Given the description of an element on the screen output the (x, y) to click on. 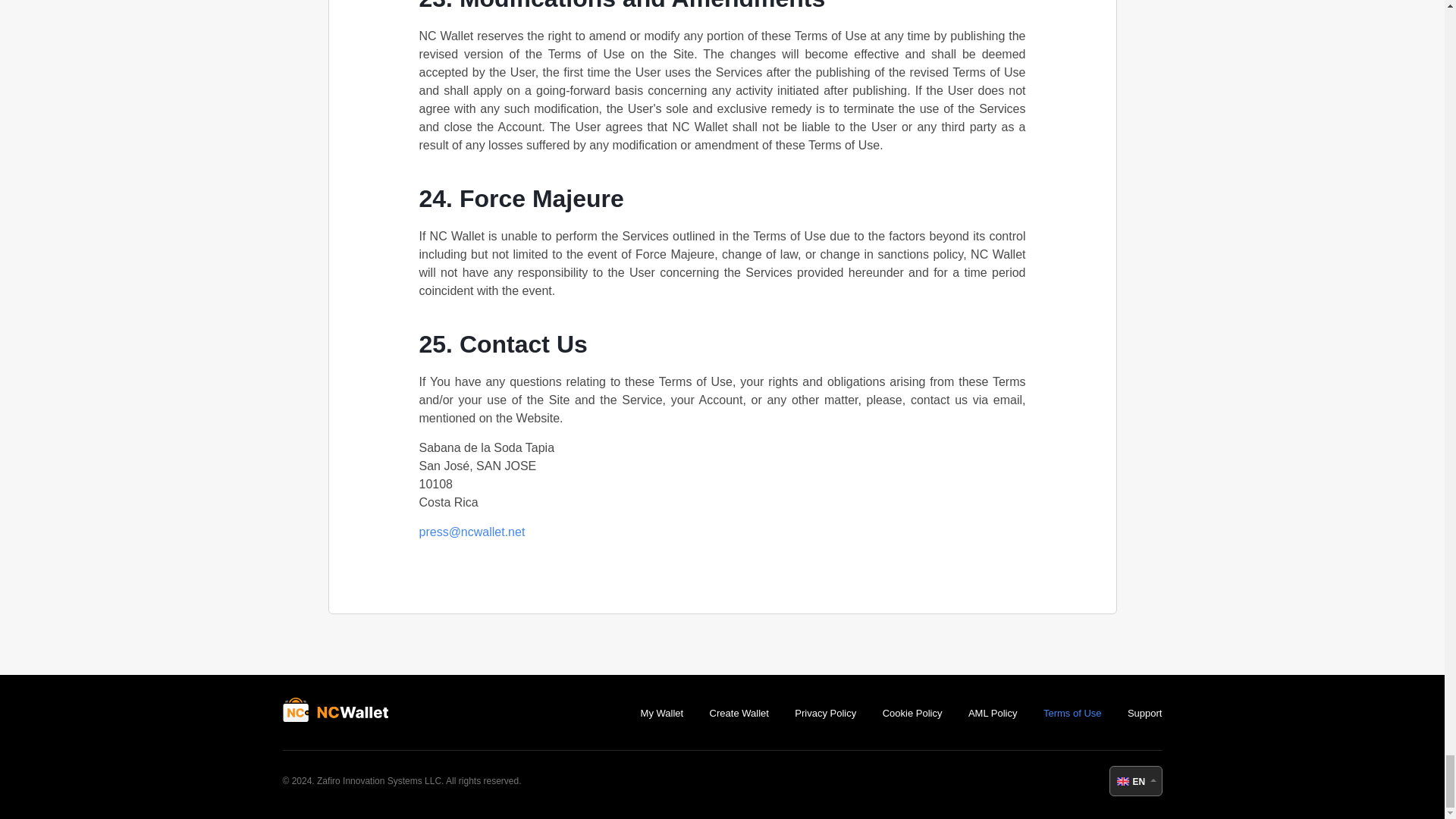
Create Wallet (739, 712)
My Wallet (662, 712)
Support (1143, 712)
Cookie Policy (912, 712)
AML Policy (992, 712)
Privacy Policy (825, 712)
Terms of Use (1072, 712)
